Given the description of an element on the screen output the (x, y) to click on. 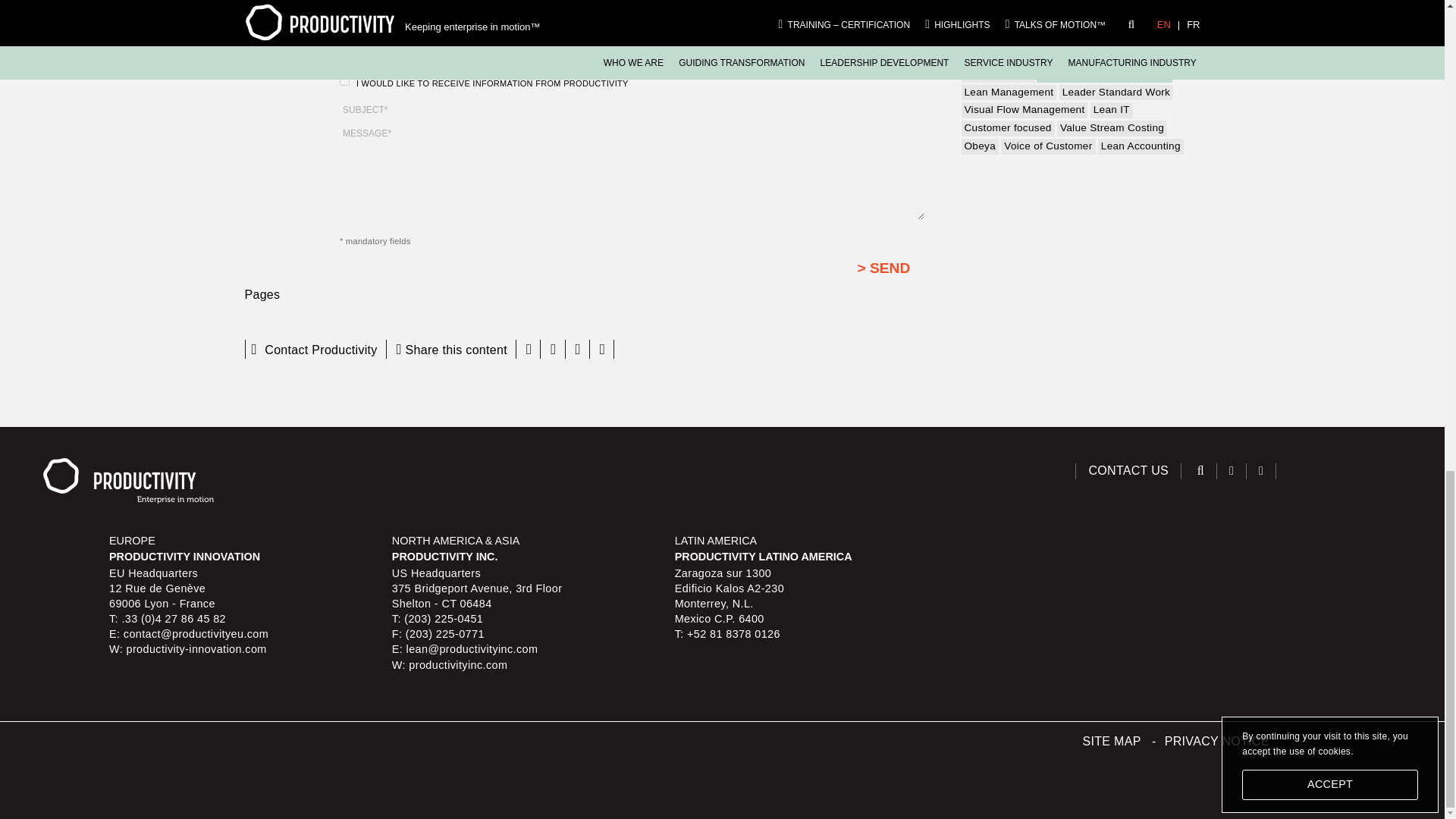
I would like to receive information from Productivity (344, 80)
